Given the description of an element on the screen output the (x, y) to click on. 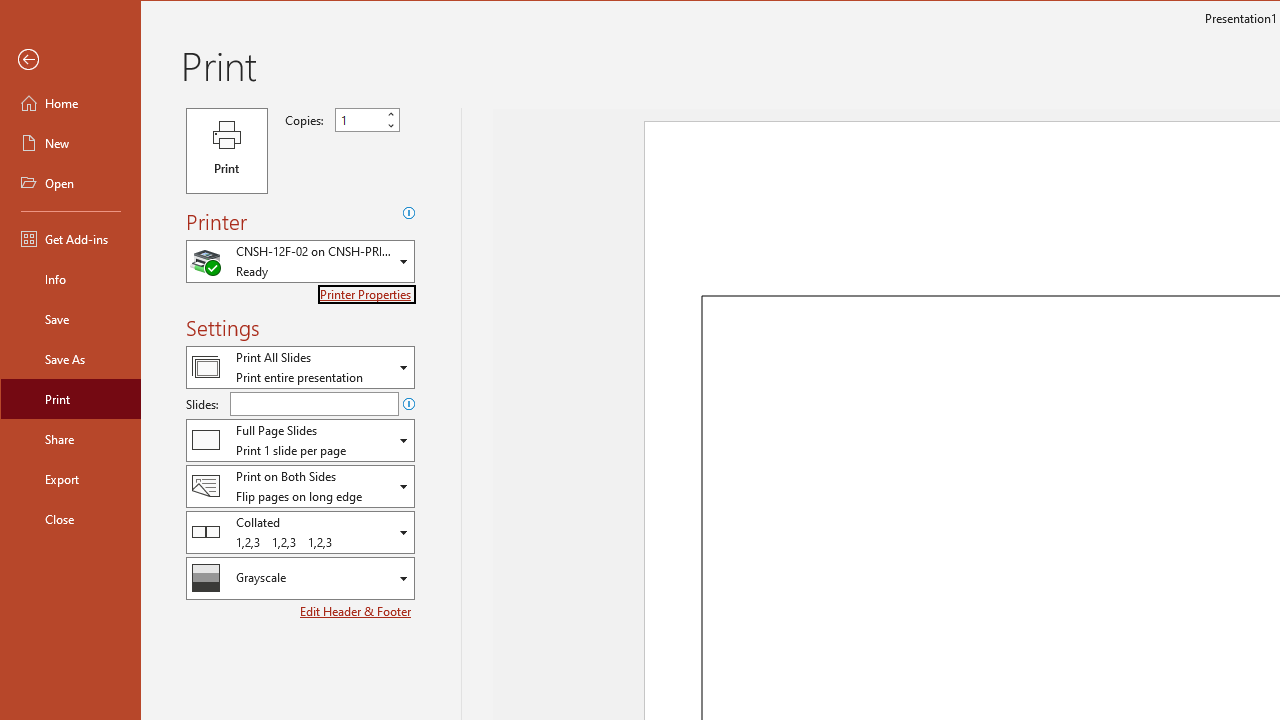
Slides and Handouts (299, 440)
More (390, 114)
Print (70, 398)
Which Printer (299, 260)
Back (70, 60)
Get Add-ins (70, 238)
Slides (314, 403)
Copies (367, 119)
Less (390, 125)
New (70, 142)
Edit Header & Footer (356, 611)
